Given the description of an element on the screen output the (x, y) to click on. 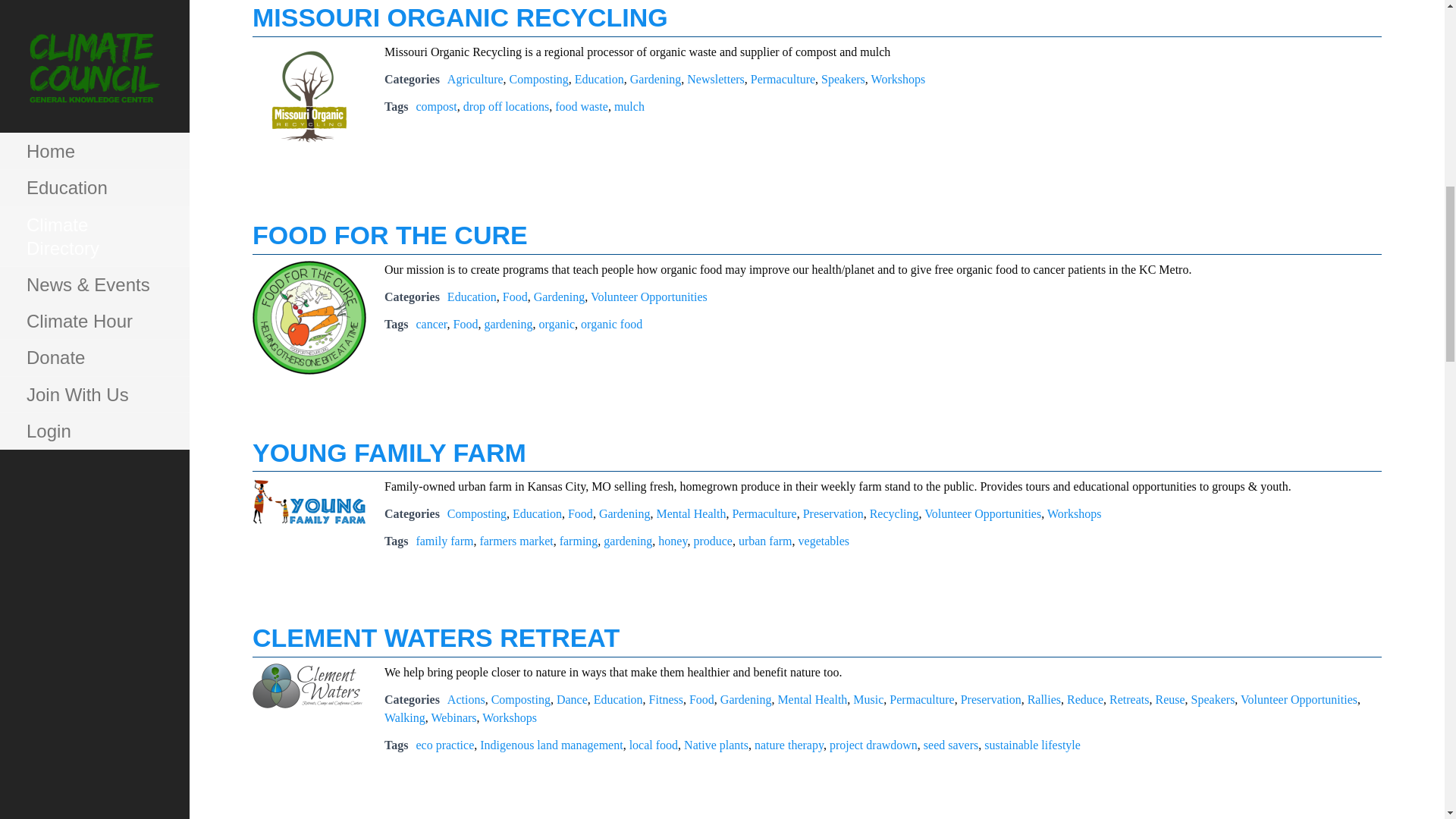
Clement Waters Retreat (308, 685)
Missouri Organic Recycling (308, 100)
Food For The Cure (308, 317)
Young Family Farm (308, 501)
